Given the description of an element on the screen output the (x, y) to click on. 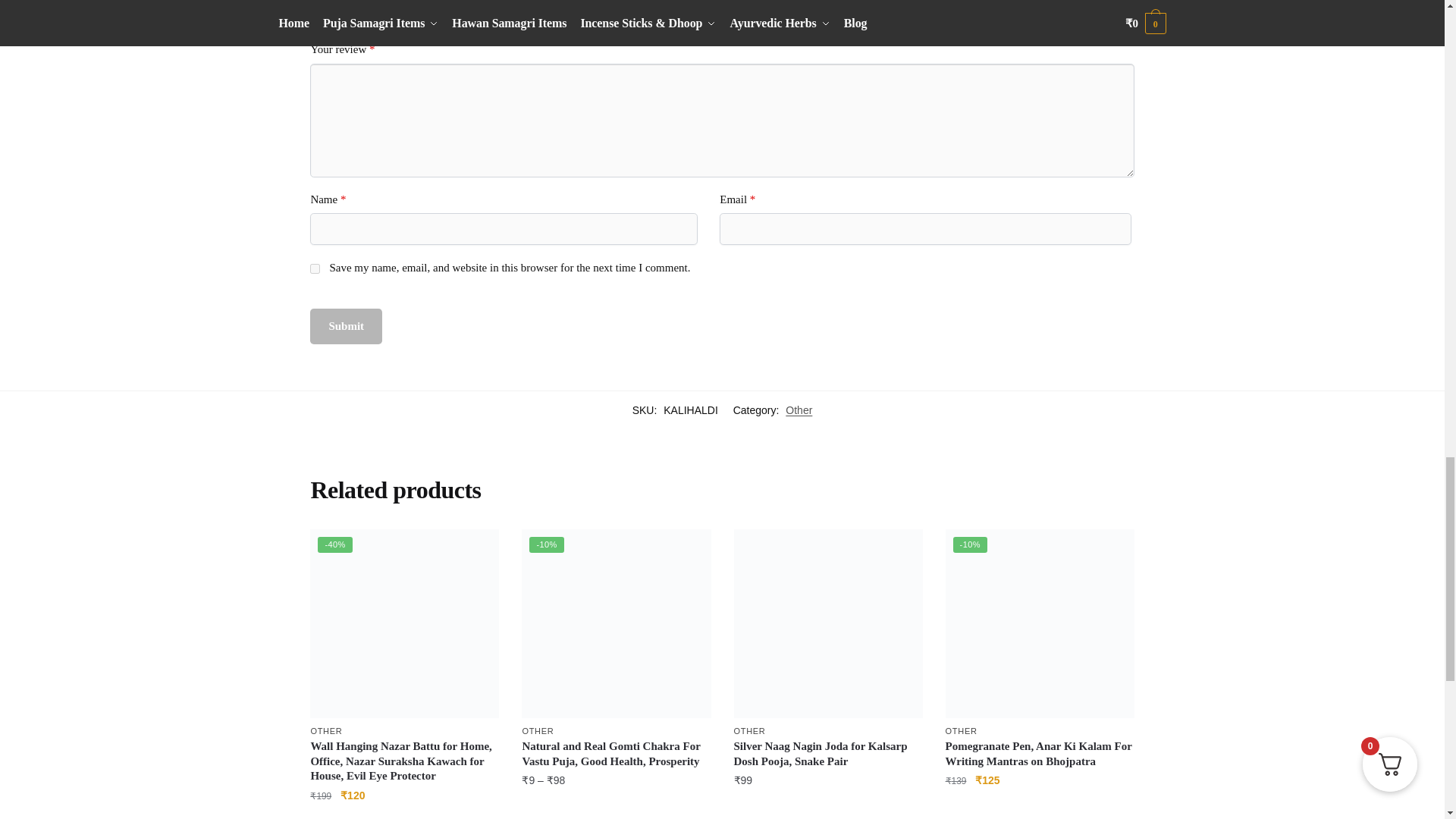
yes (315, 268)
Submit (345, 325)
Silver Naag Nagin Joda for Kalsarp Dosh Pooja, Snake Pair (828, 623)
